Given the description of an element on the screen output the (x, y) to click on. 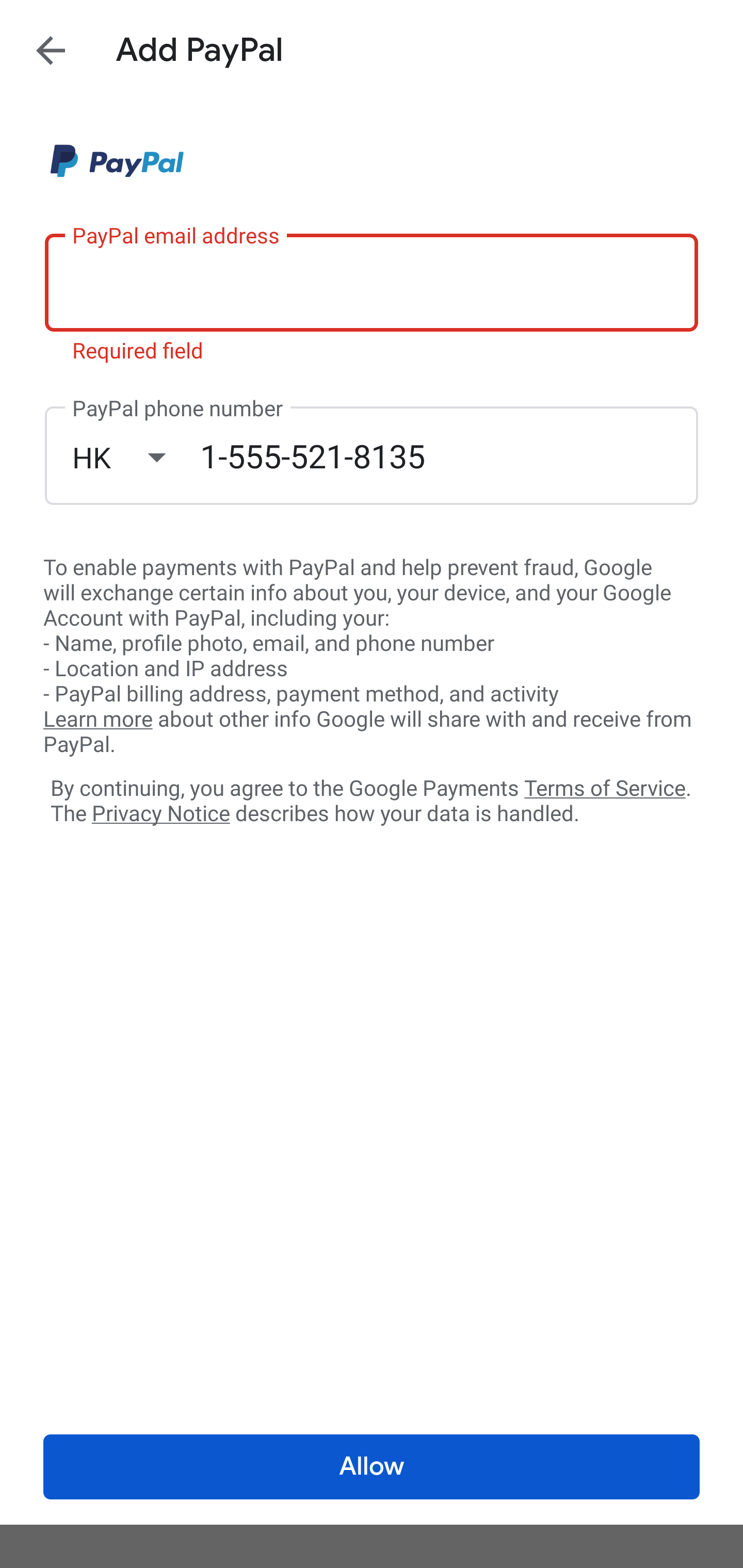
Navigate up (50, 50)
HK (135, 456)
Learn more (97, 719)
Terms of Service (604, 787)
Privacy Notice (160, 814)
Allow (371, 1466)
